Given the description of an element on the screen output the (x, y) to click on. 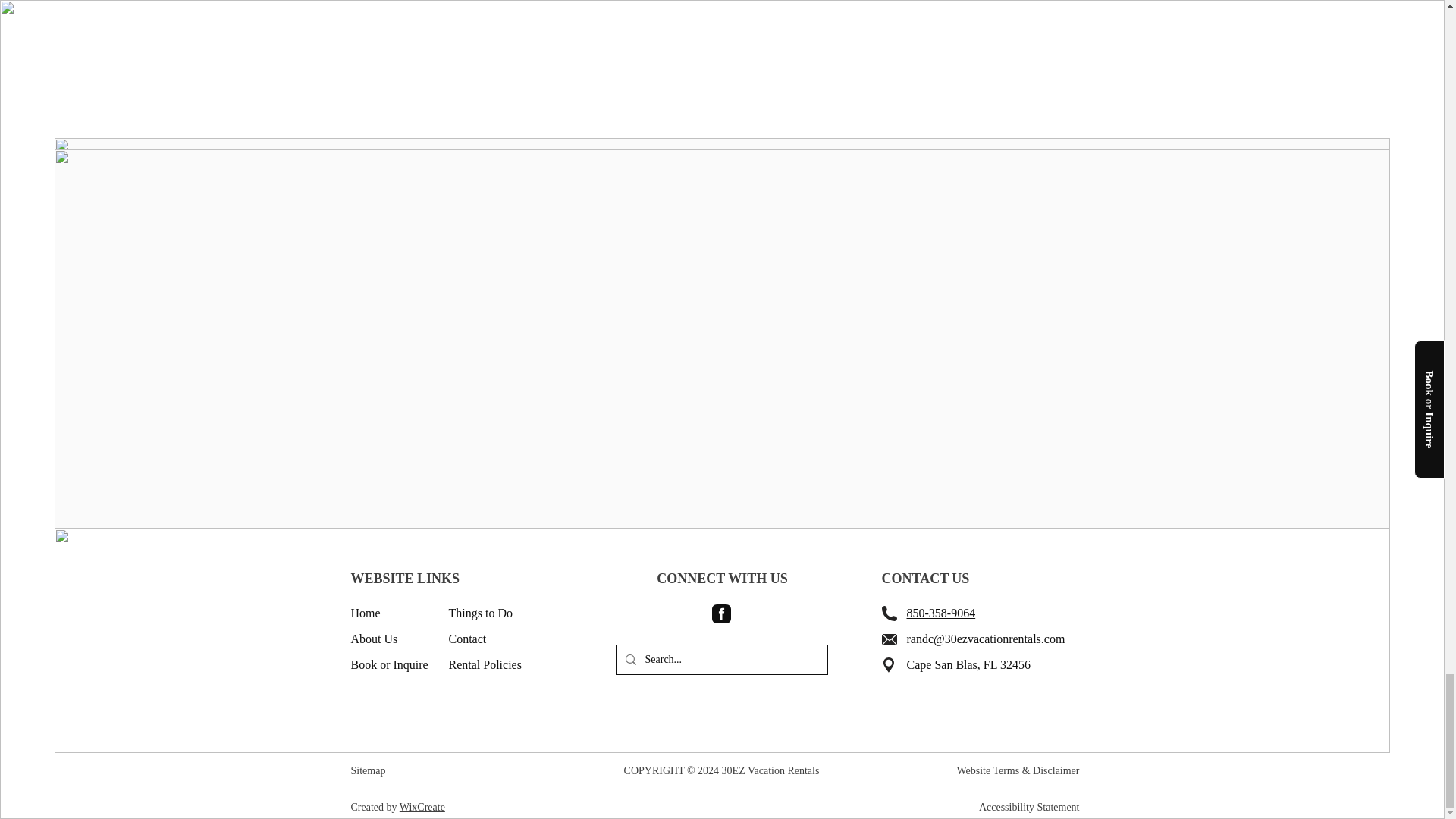
Home (365, 612)
Contact (467, 638)
Things to Do (480, 612)
About Us (373, 638)
Book or Inquire (389, 664)
